Given the description of an element on the screen output the (x, y) to click on. 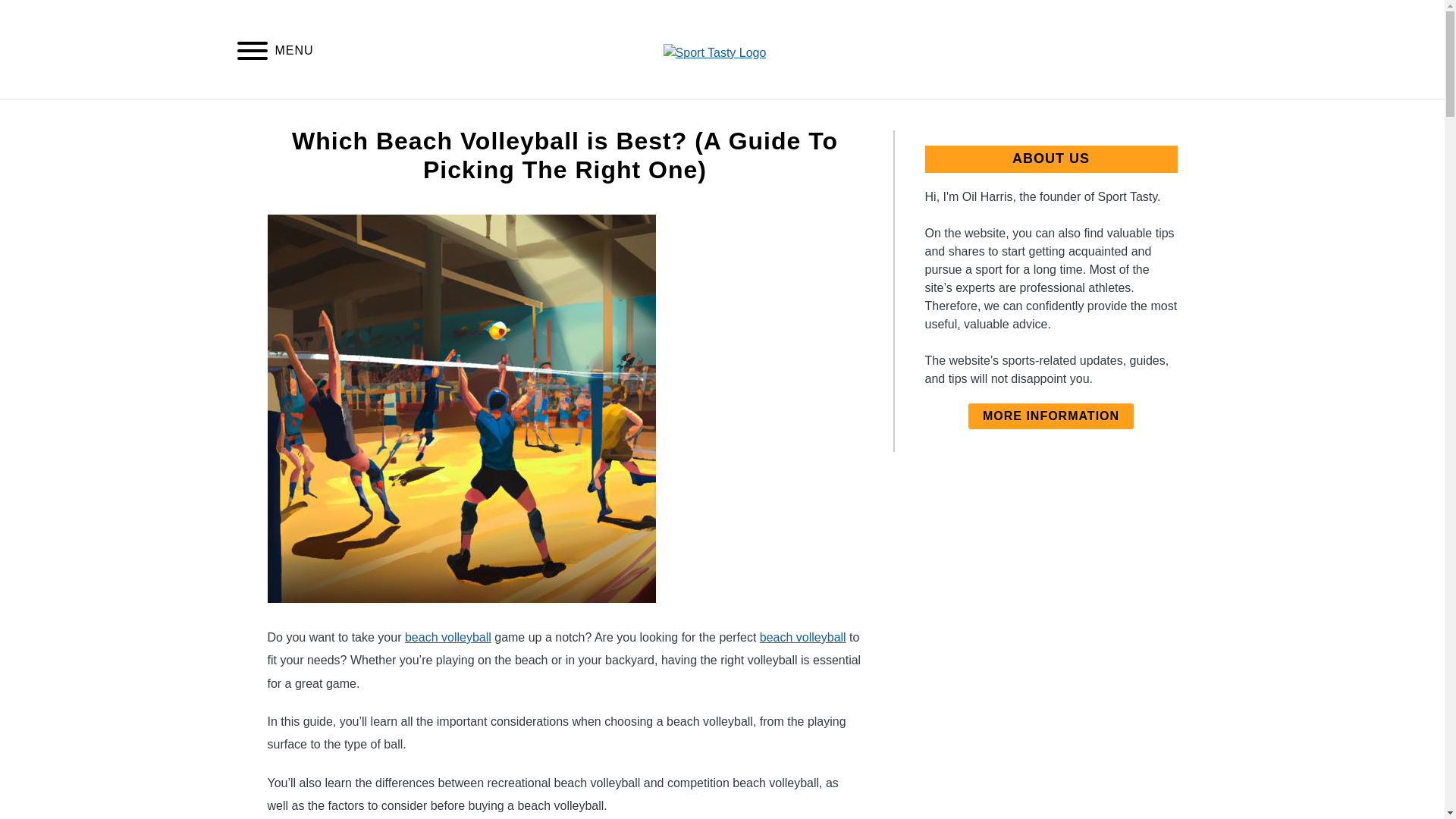
TENNIS (661, 117)
HOCKEY (745, 117)
CONTACT (837, 117)
MENU (251, 53)
ABOUT US (935, 117)
HOME (495, 117)
Search (1203, 49)
beach volleyball (802, 636)
MORE INFORMATION (1051, 416)
beach volleyball (448, 636)
